Given the description of an element on the screen output the (x, y) to click on. 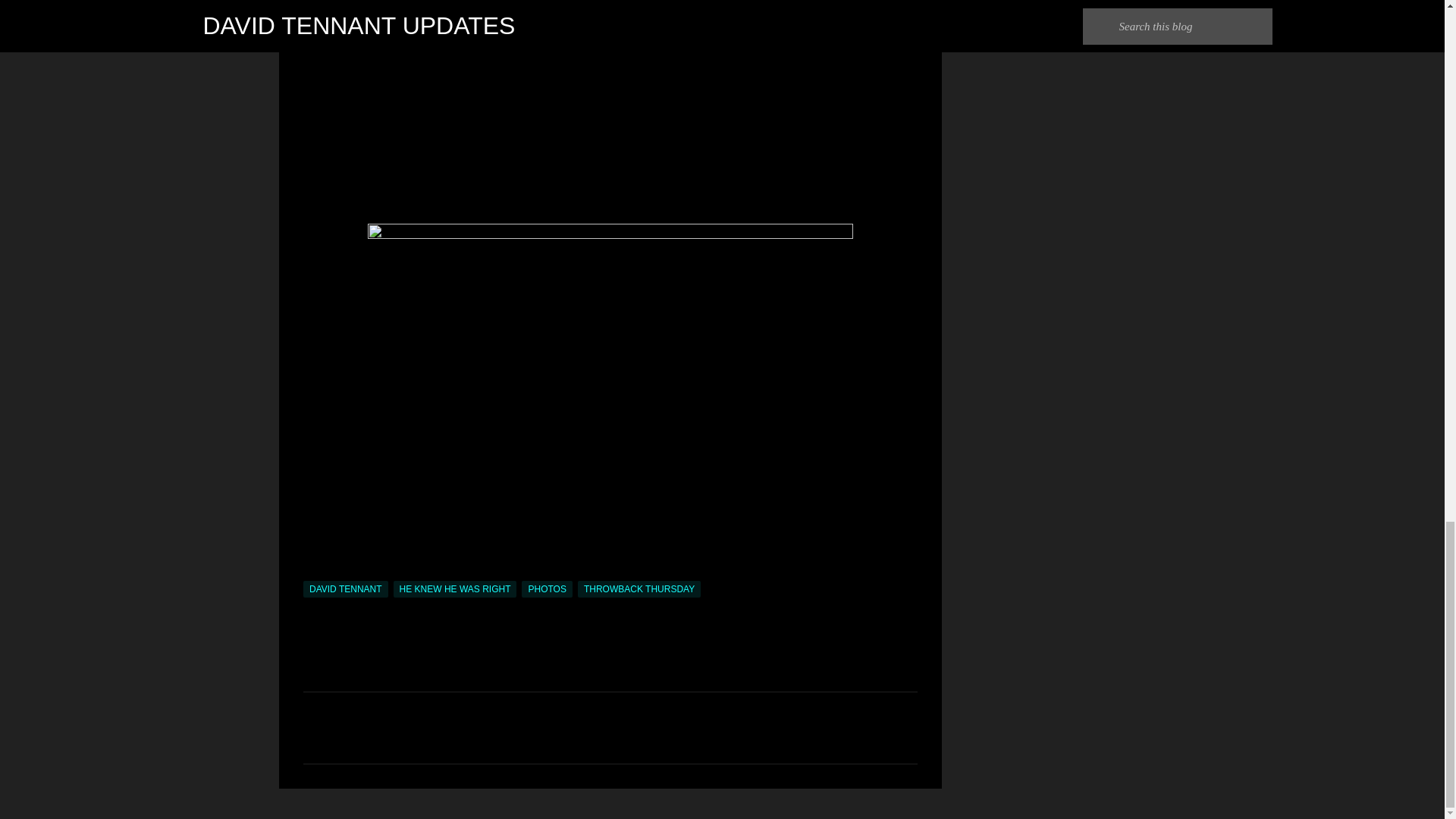
PHOTOS (546, 588)
DAVID TENNANT (345, 588)
HE KNEW HE WAS RIGHT (454, 588)
THROWBACK THURSDAY (639, 588)
Email Post (311, 571)
